Given the description of an element on the screen output the (x, y) to click on. 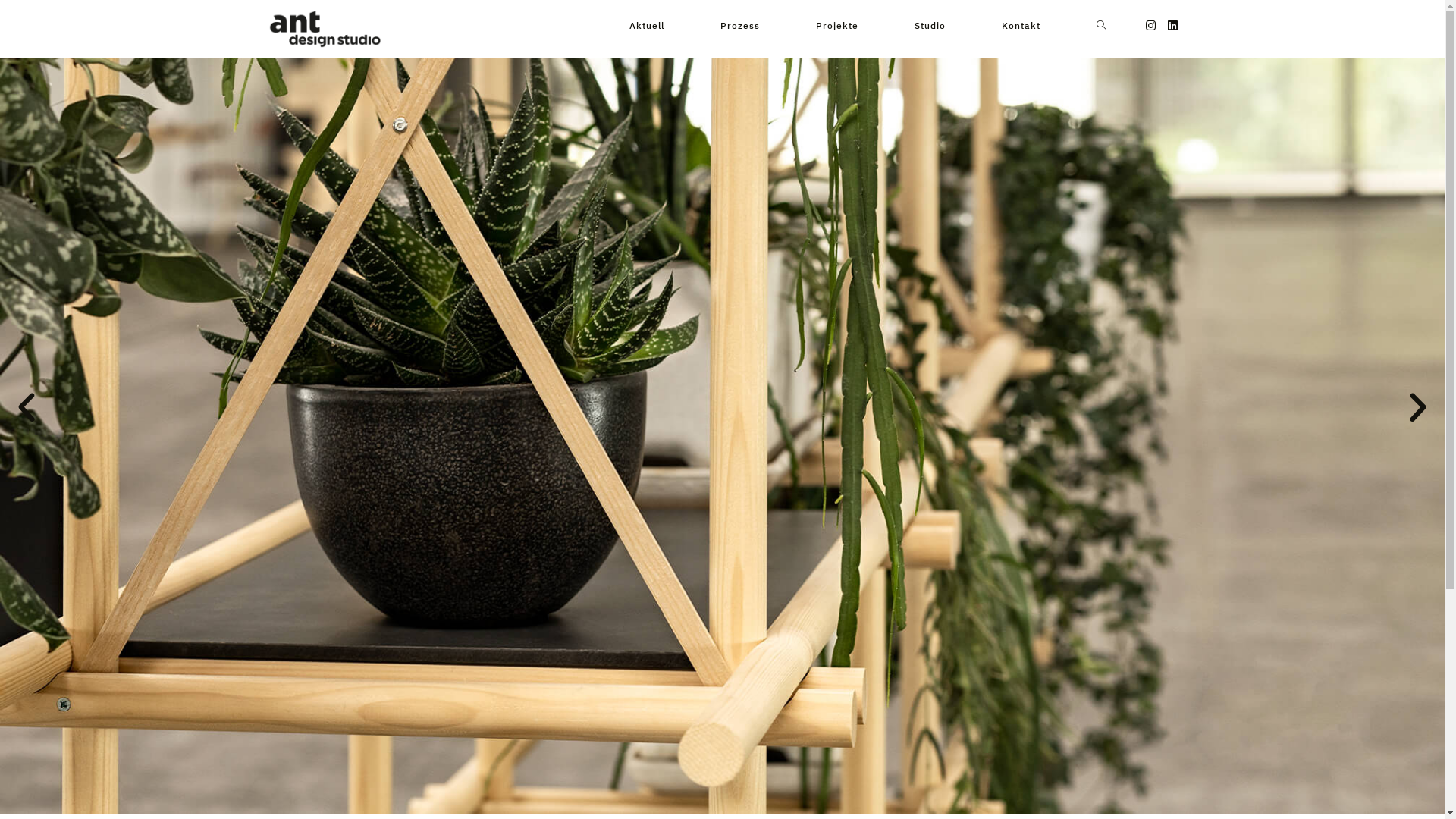
Aktuell Element type: text (645, 25)
Kontakt Element type: text (1020, 25)
Prozess Element type: text (739, 25)
Projekte Element type: text (836, 25)
Studio Element type: text (928, 25)
